Given the description of an element on the screen output the (x, y) to click on. 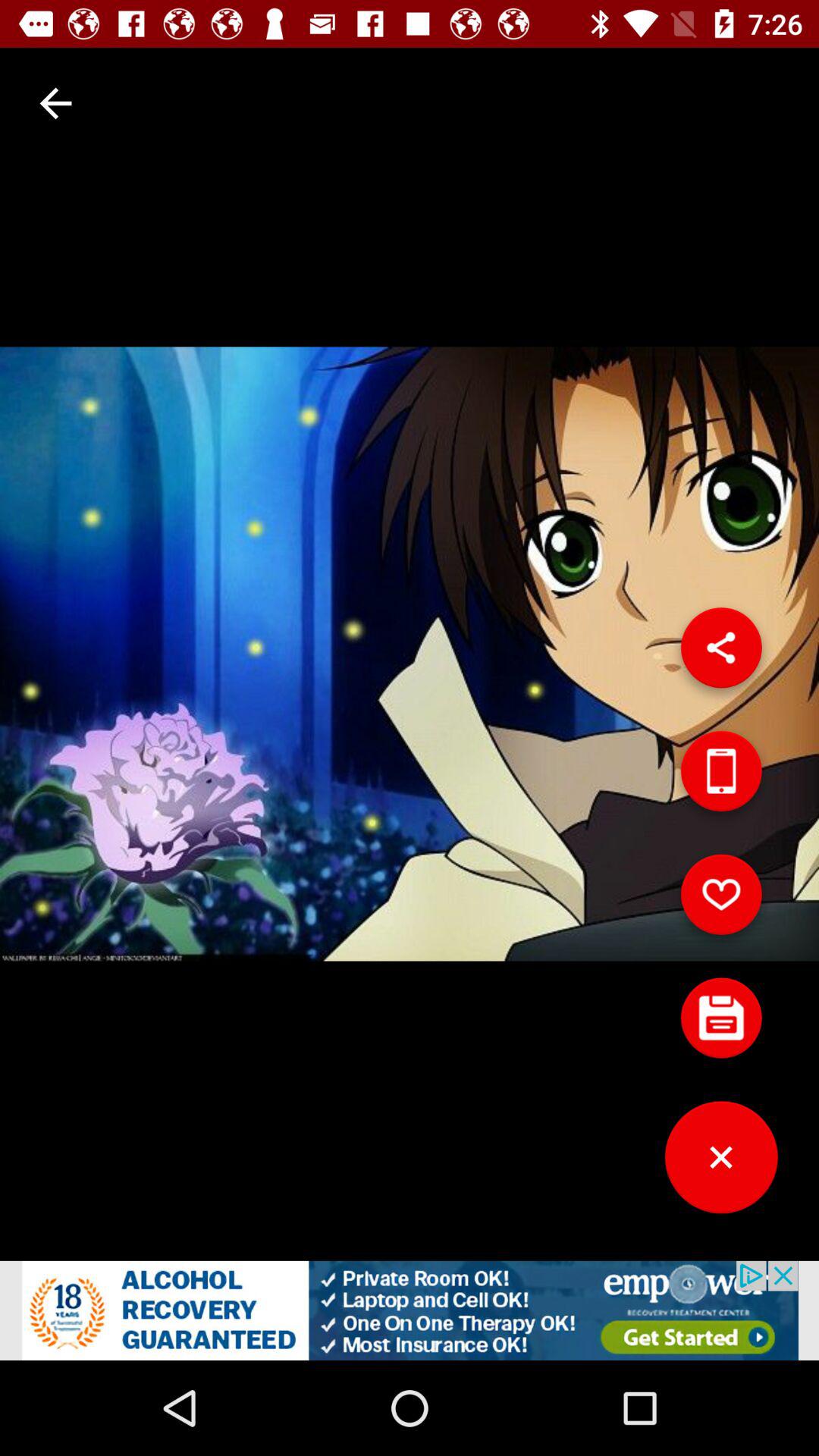
mobile selection (721, 776)
